Given the description of an element on the screen output the (x, y) to click on. 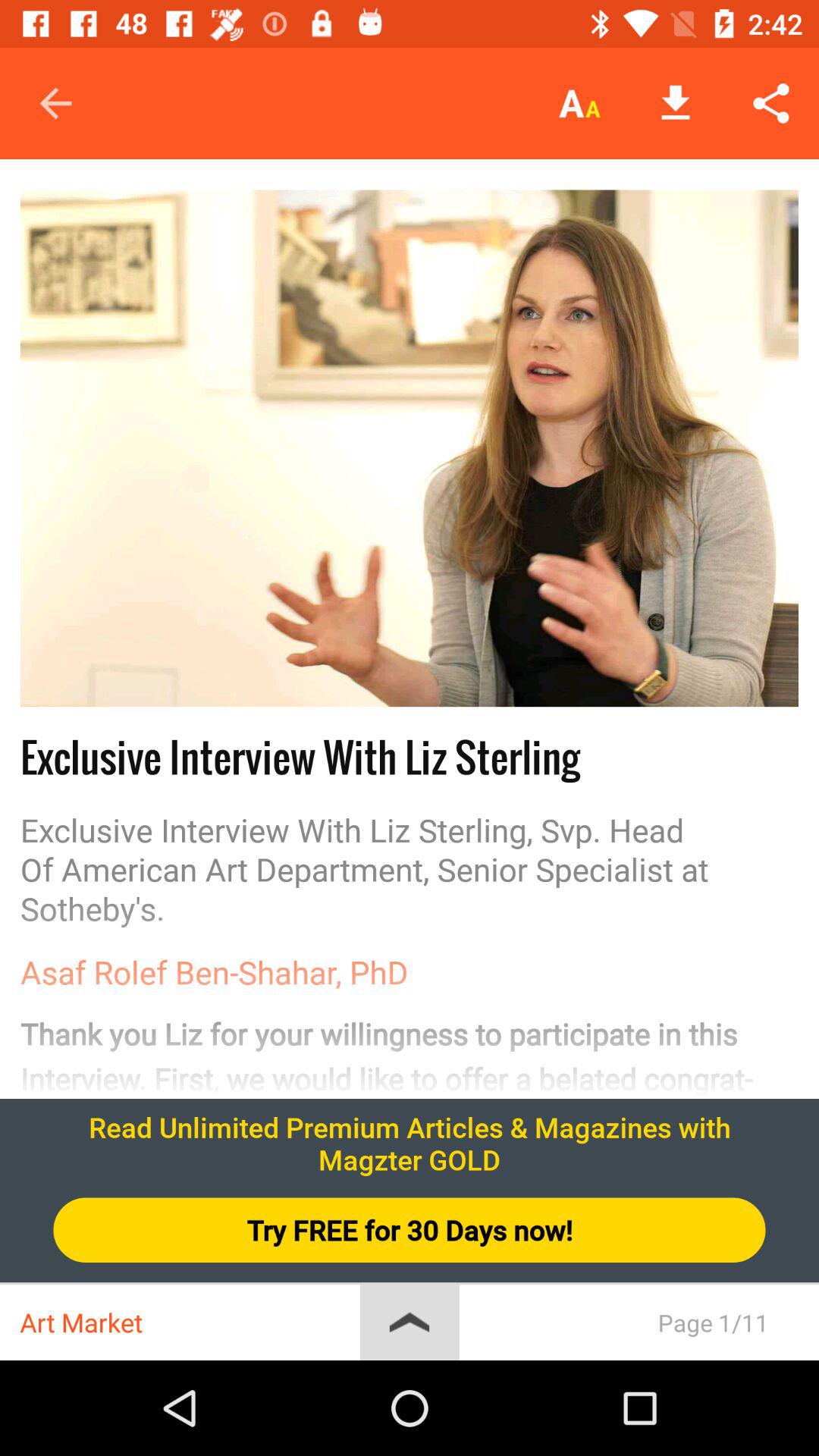
tap item below read unlimited premium item (409, 1229)
